Given the description of an element on the screen output the (x, y) to click on. 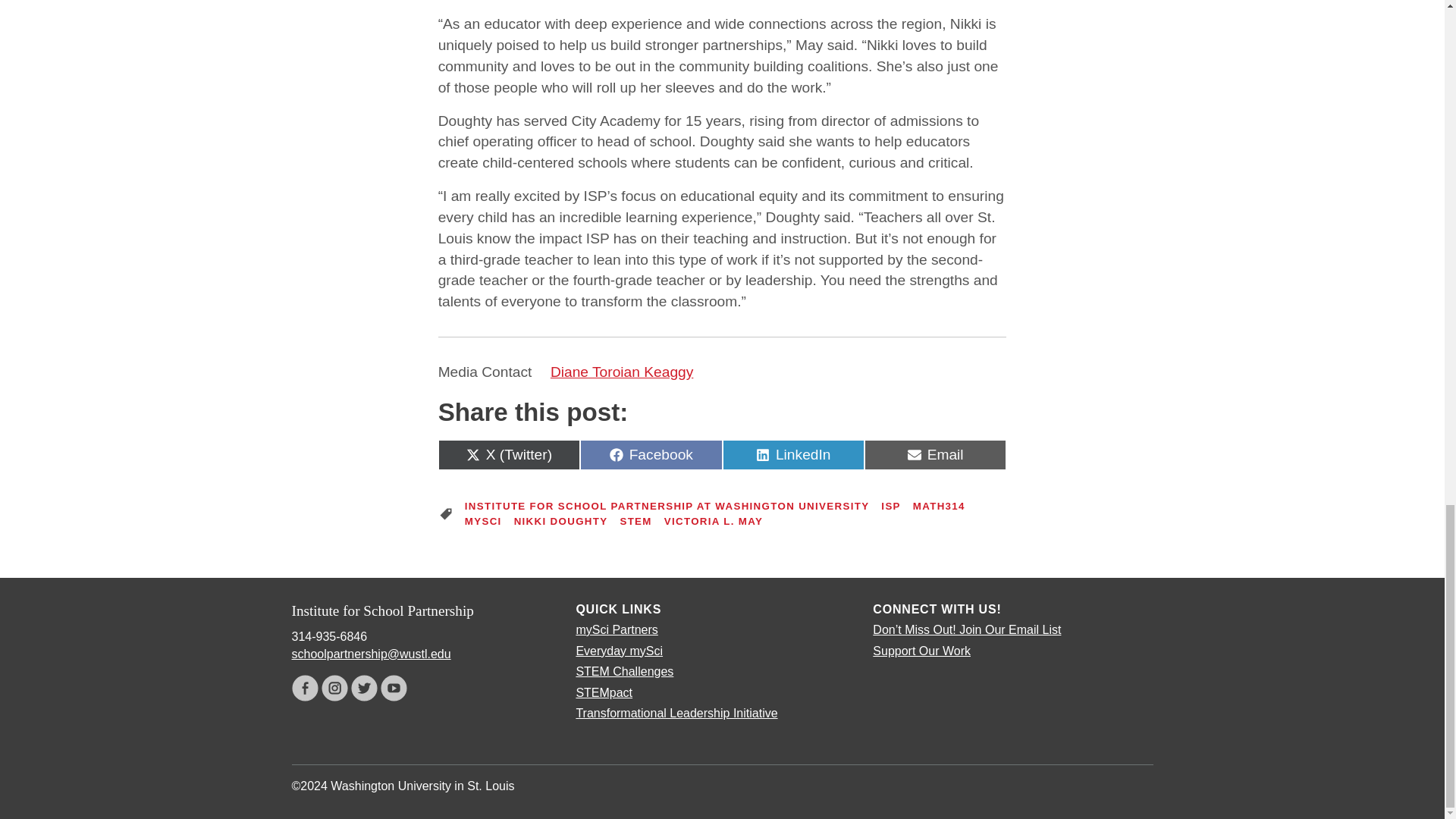
INSTITUTE FOR SCHOOL PARTNERSHIP AT WASHINGTON UNIVERSITY (666, 506)
MATH314 (938, 506)
Diane Toroian Keaggy (621, 371)
NIKKI DOUGHTY (560, 521)
ISP (650, 454)
Twitter (889, 506)
mySci Partners (363, 687)
YouTube (616, 629)
